Given the description of an element on the screen output the (x, y) to click on. 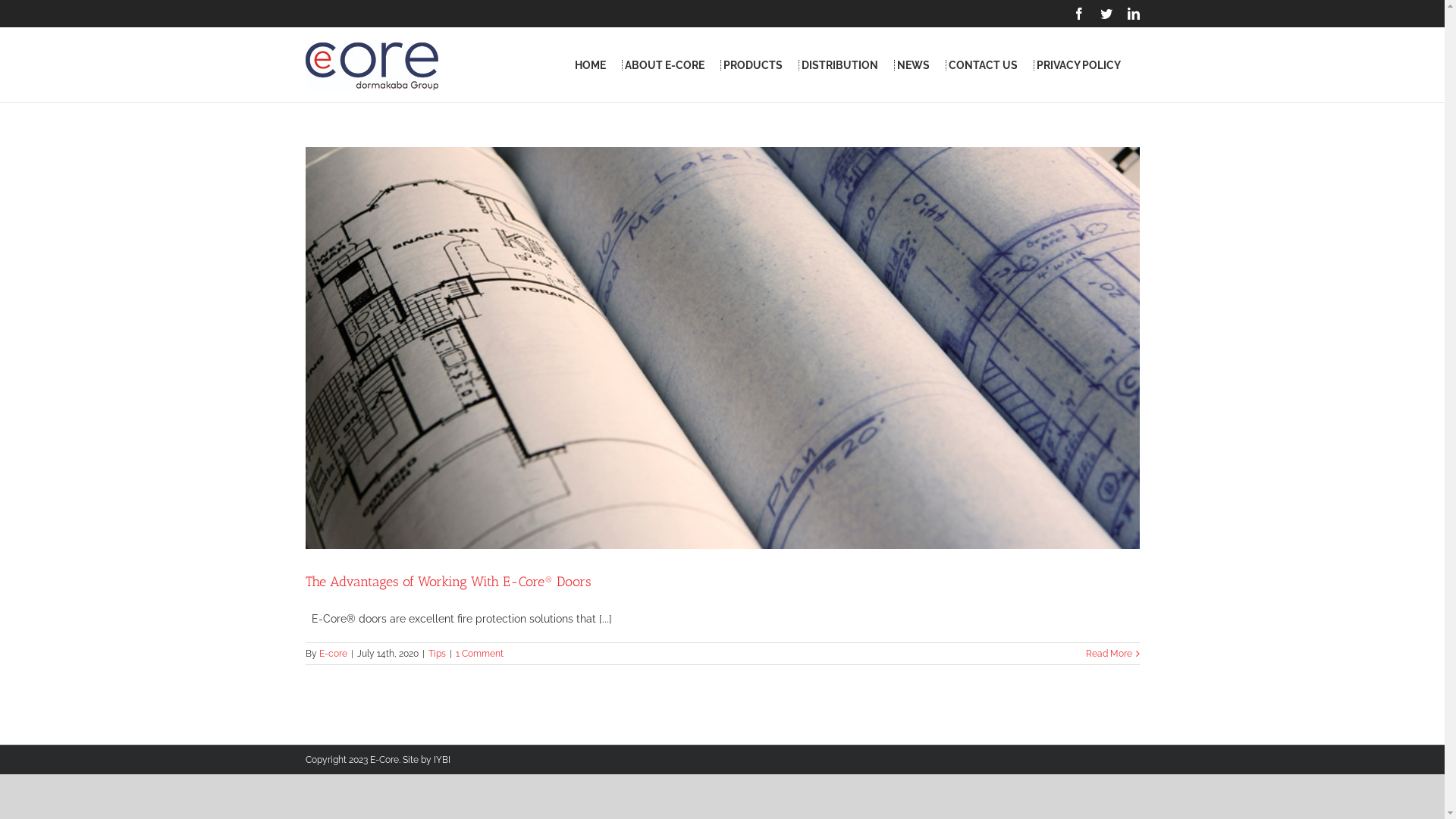
ABOUT E-CORE Element type: text (664, 65)
LinkedIn Element type: text (1132, 13)
Tips Element type: text (436, 653)
Read More Element type: text (1108, 653)
DISTRIBUTION Element type: text (838, 65)
Twitter Element type: text (1105, 13)
NEWS Element type: text (912, 65)
Facebook Element type: text (1078, 13)
IYBI Element type: text (441, 759)
CONTACT US Element type: text (981, 65)
HOME Element type: text (589, 65)
1 Comment Element type: text (478, 653)
PRIVACY POLICY Element type: text (1077, 65)
PRODUCTS Element type: text (752, 65)
E-core Element type: text (332, 653)
